Given the description of an element on the screen output the (x, y) to click on. 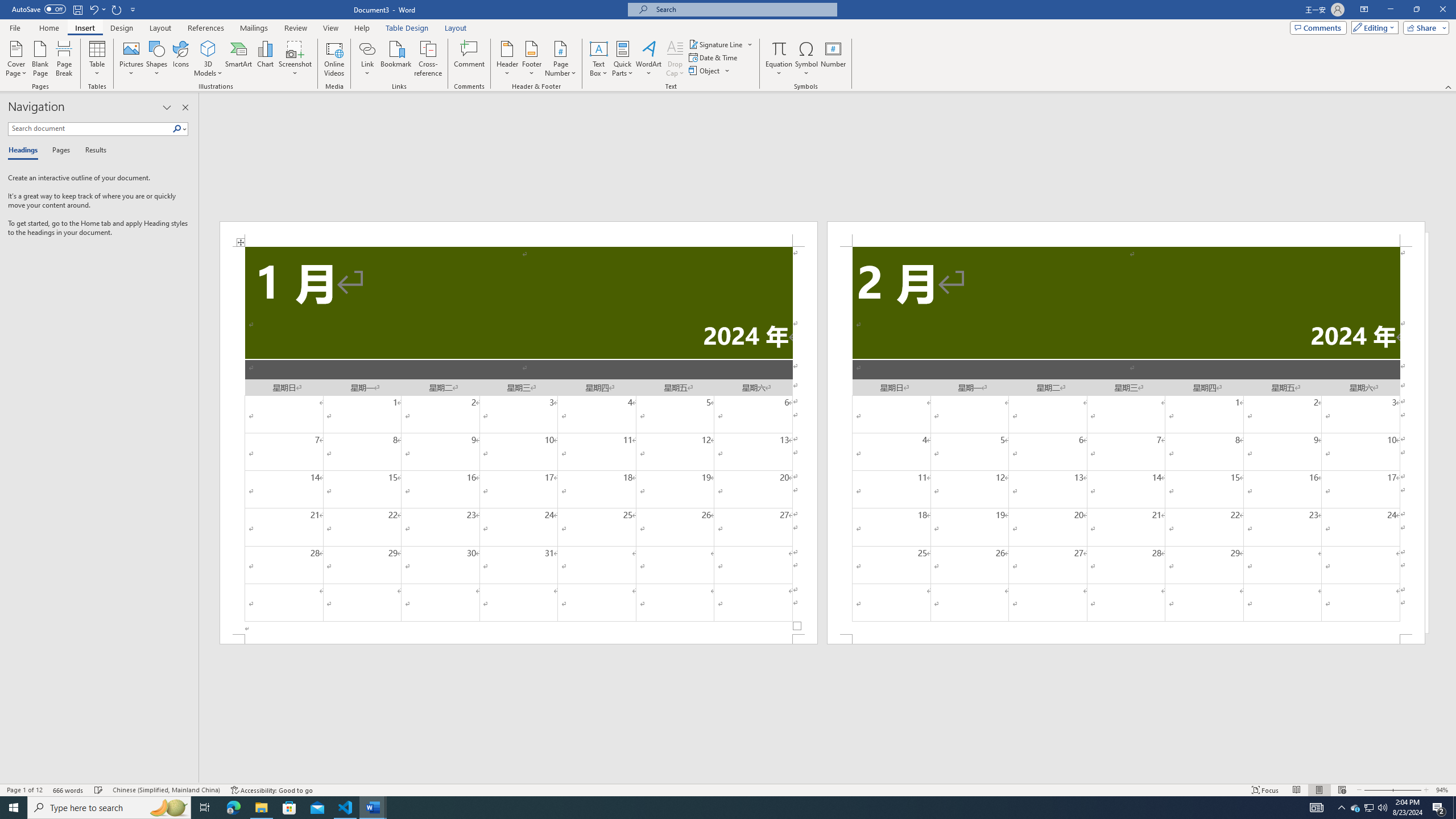
Accessibility Checker Accessibility: Good to go (271, 790)
Pictures (131, 58)
Pages (59, 150)
Drop Cap (674, 58)
Header -Section 2- (1126, 233)
Object... (709, 69)
Signature Line (721, 44)
Undo Increase Indent (92, 9)
Blank Page (40, 58)
Results (91, 150)
